Given the description of an element on the screen output the (x, y) to click on. 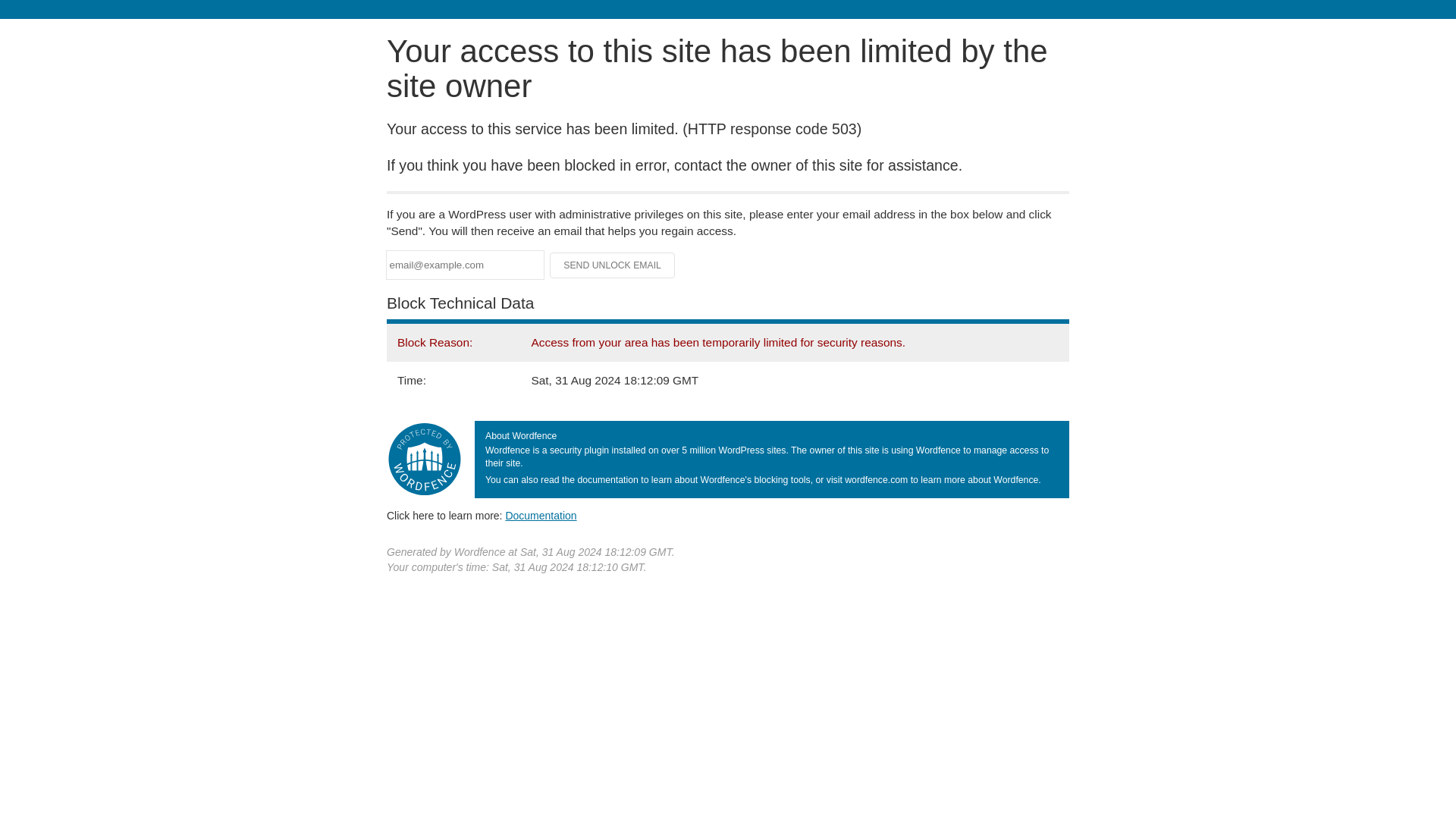
Send Unlock Email (612, 265)
Send Unlock Email (612, 265)
Documentation (540, 515)
